Given the description of an element on the screen output the (x, y) to click on. 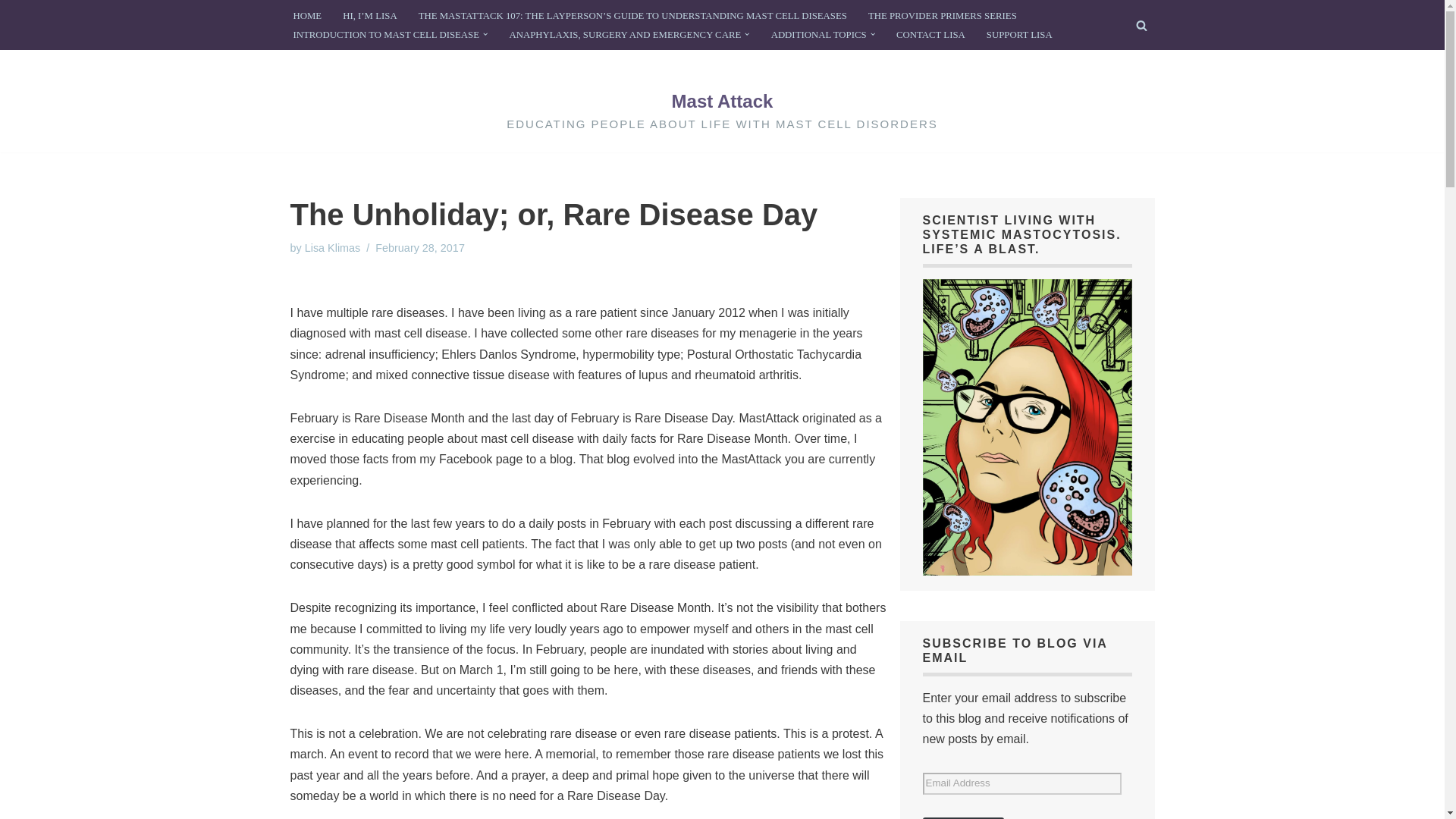
Posts by Lisa Klimas (332, 247)
SUPPORT LISA (1019, 34)
INTRODUCTION TO MAST CELL DISEASE (385, 34)
HOME (306, 15)
ANAPHYLAXIS, SURGERY AND EMERGENCY CARE (624, 34)
CONTACT LISA (930, 34)
Skip to content (11, 31)
THE PROVIDER PRIMERS SERIES (941, 15)
ADDITIONAL TOPICS (818, 34)
